Given the description of an element on the screen output the (x, y) to click on. 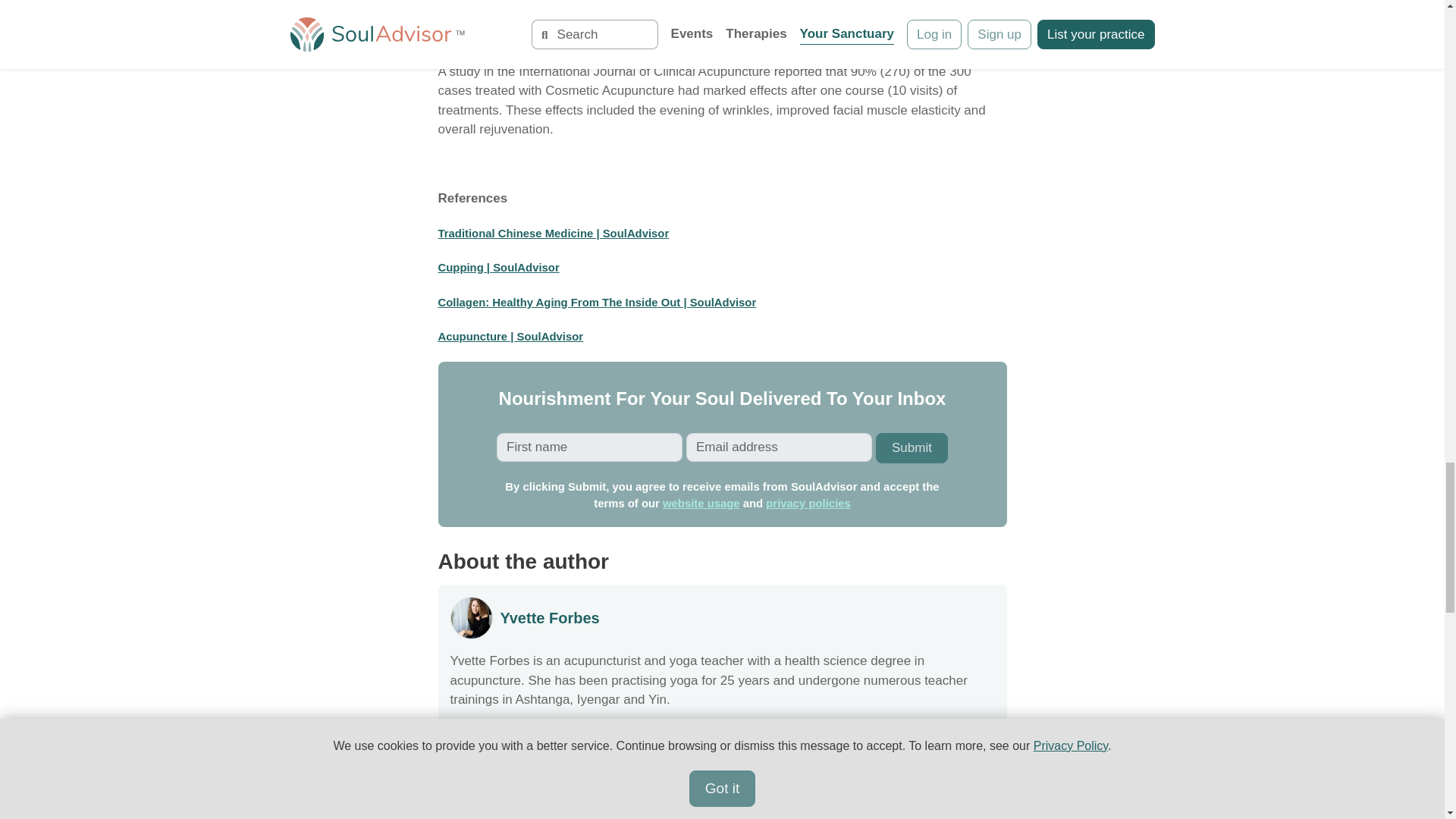
Visit author page (471, 617)
acupuncture (830, 2)
Visit author page (549, 617)
